Given the description of an element on the screen output the (x, y) to click on. 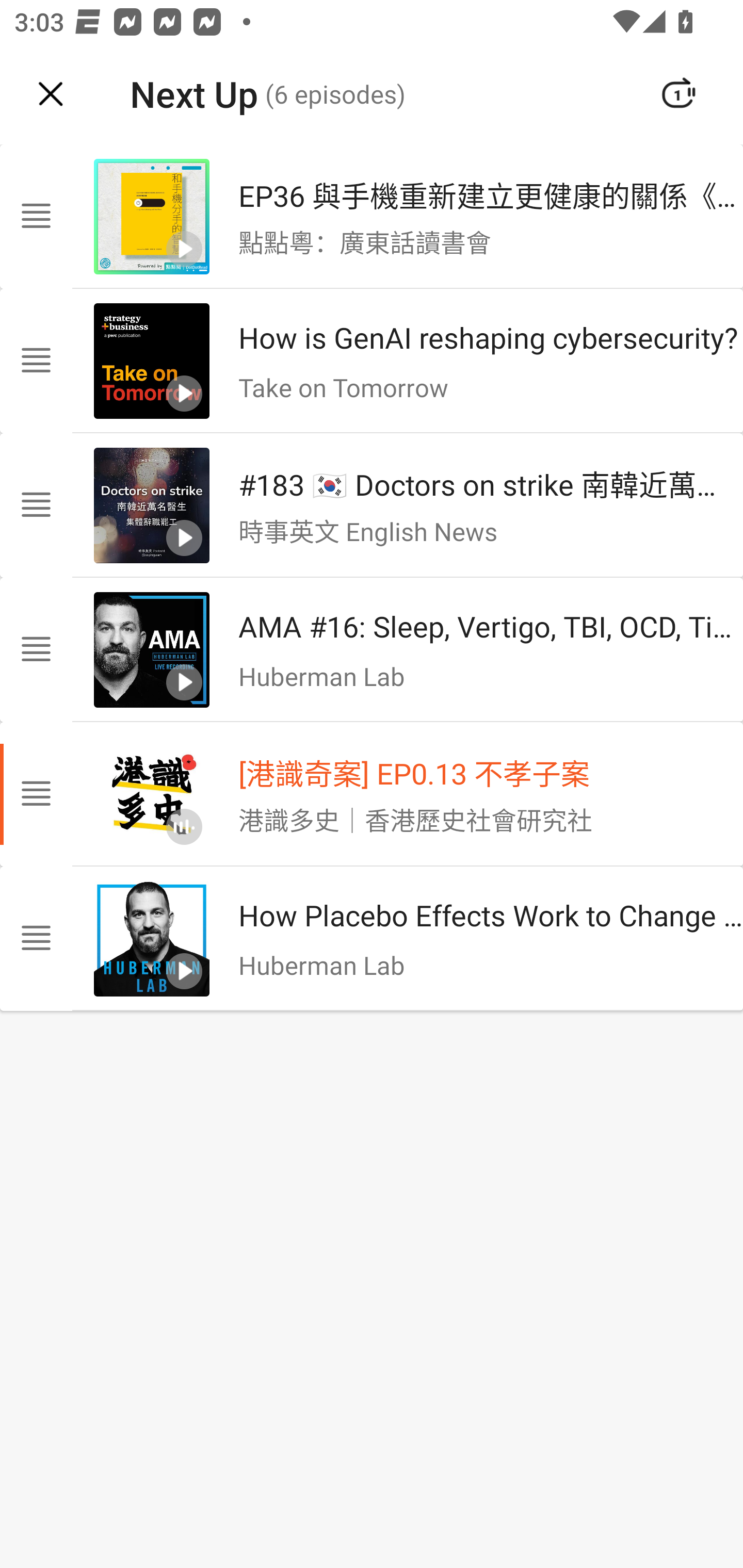
Navigate up (50, 93)
